Given the description of an element on the screen output the (x, y) to click on. 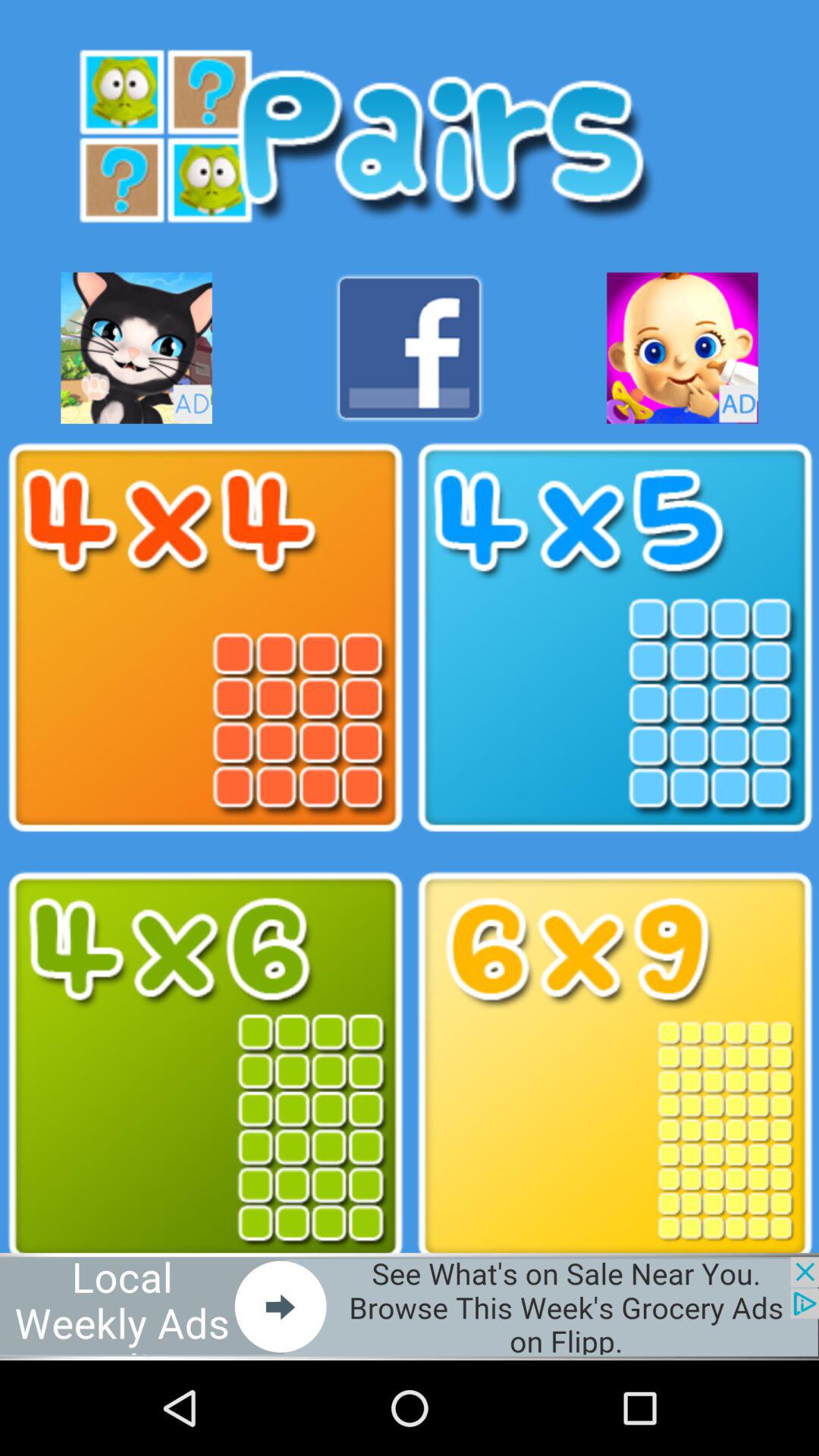
game menu (204, 1066)
